Given the description of an element on the screen output the (x, y) to click on. 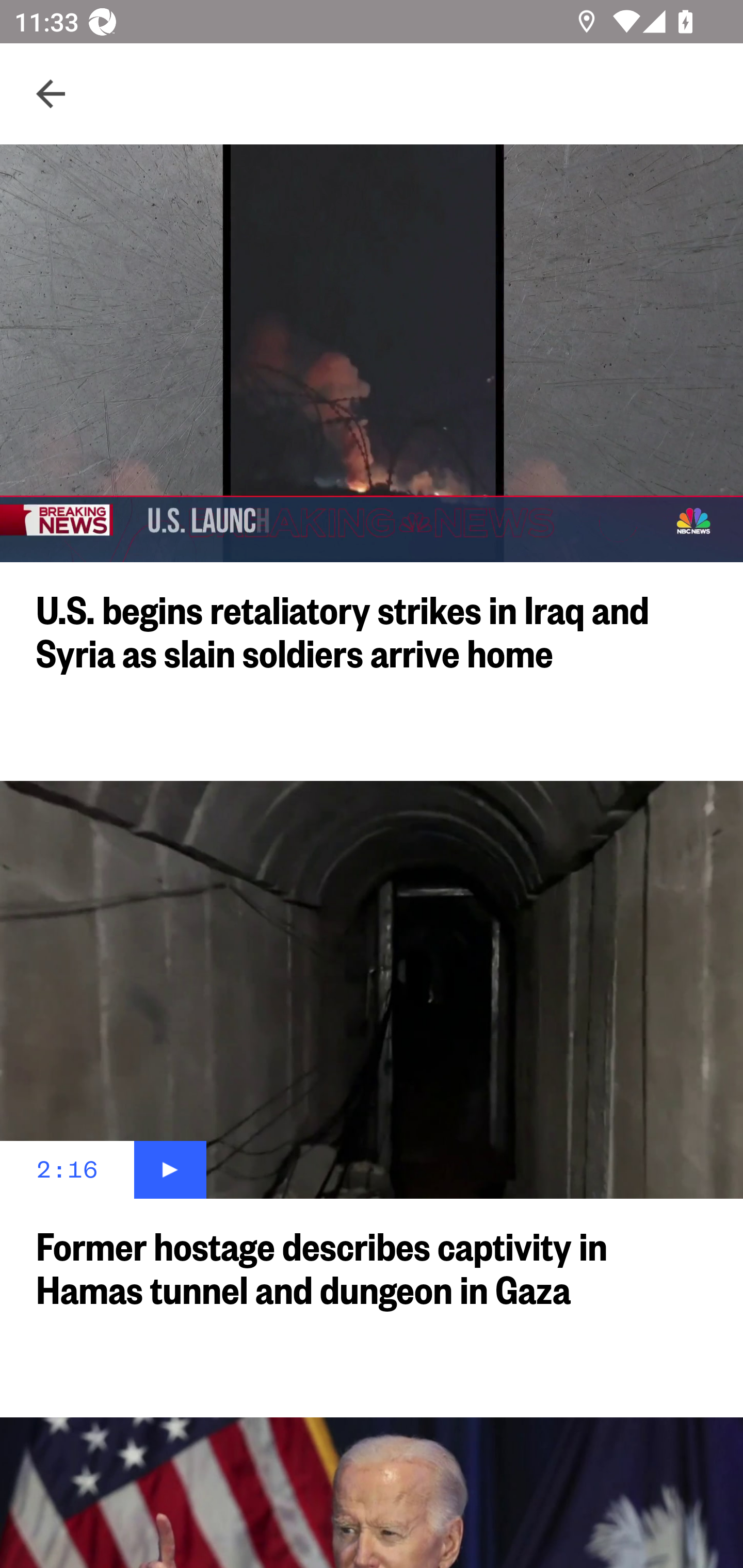
Navigate up (50, 93)
